Given the description of an element on the screen output the (x, y) to click on. 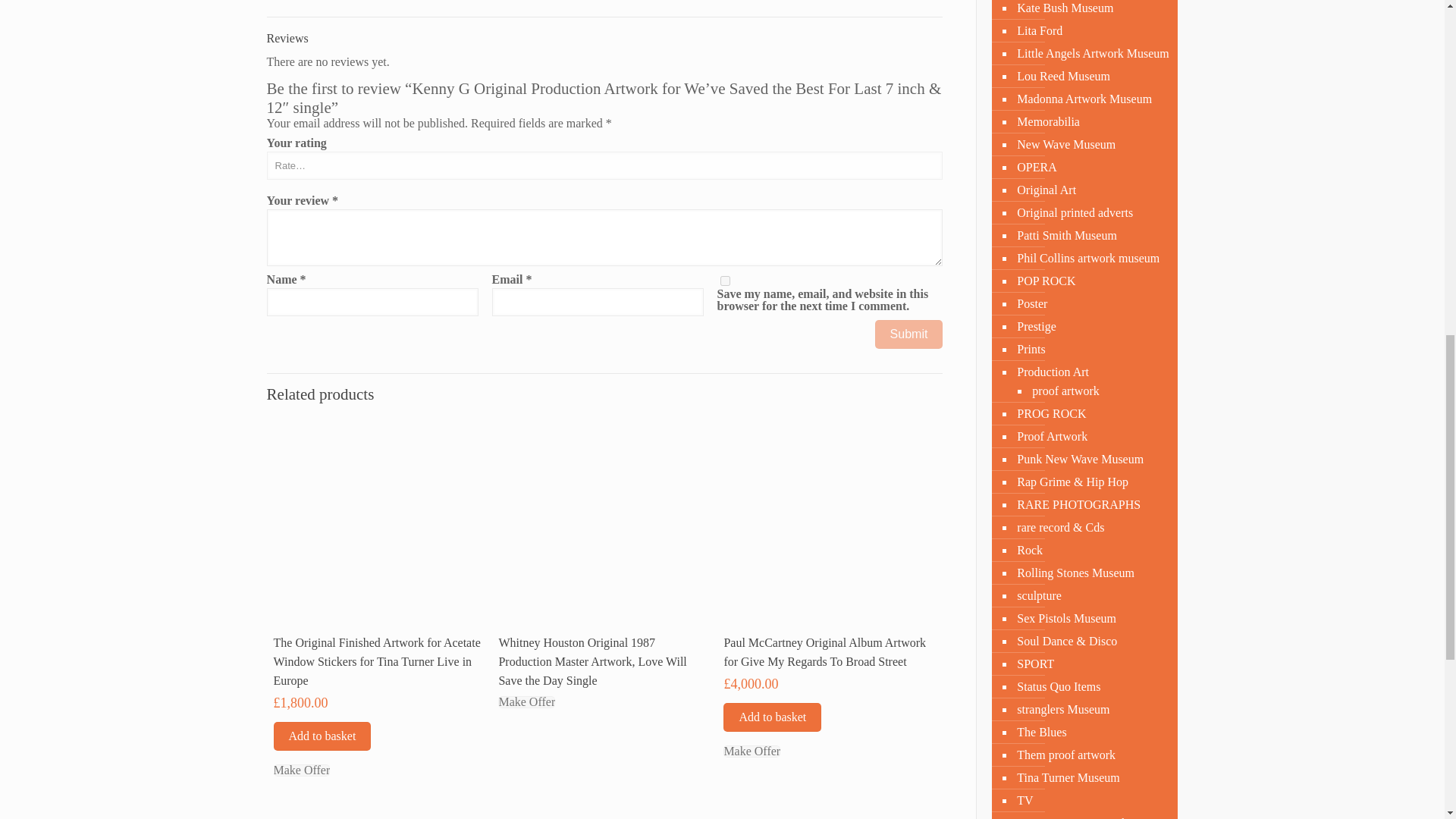
Submit (909, 334)
yes (725, 280)
